Given the description of an element on the screen output the (x, y) to click on. 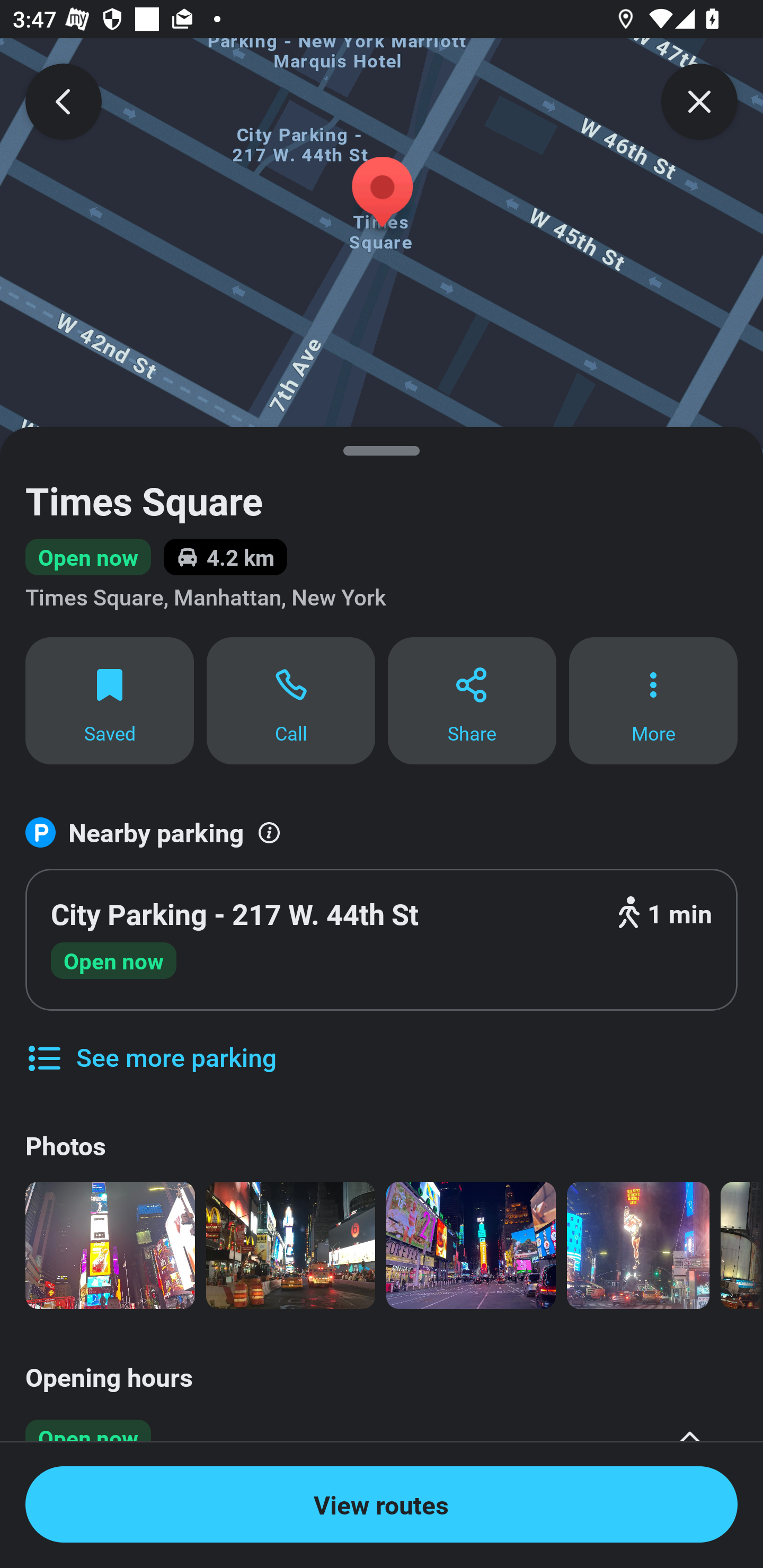
Saved (109, 700)
Call (290, 700)
Share (471, 700)
More (653, 700)
City Parking - 217 W. 44th St 1 min Open now (381, 939)
See more parking (150, 1043)
View routes (381, 1504)
